Given the description of an element on the screen output the (x, y) to click on. 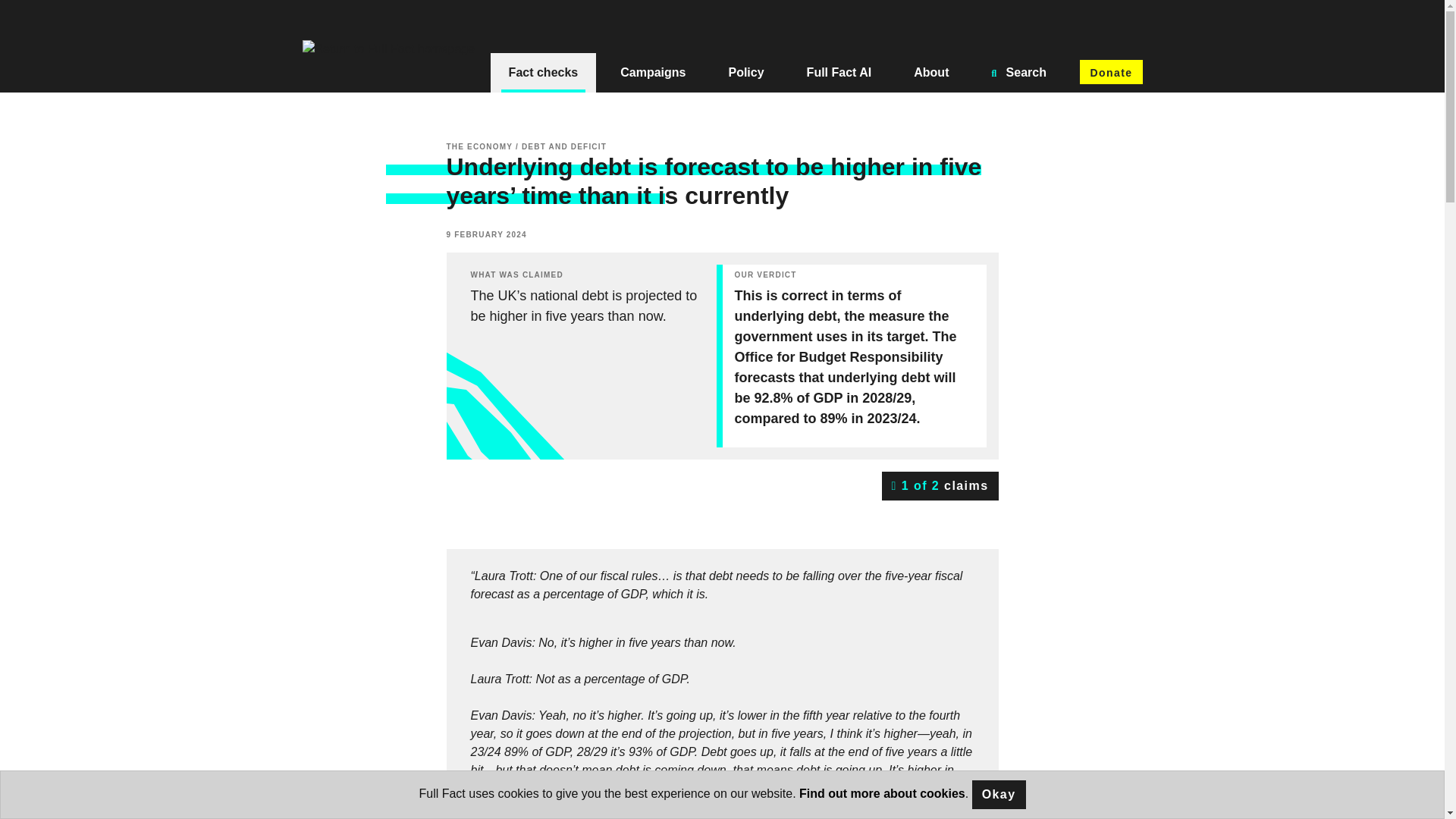
Policy (745, 72)
Donate (1110, 71)
Full Fact AI (839, 72)
Fact checks (543, 72)
About (930, 72)
Campaigns (652, 72)
